Given the description of an element on the screen output the (x, y) to click on. 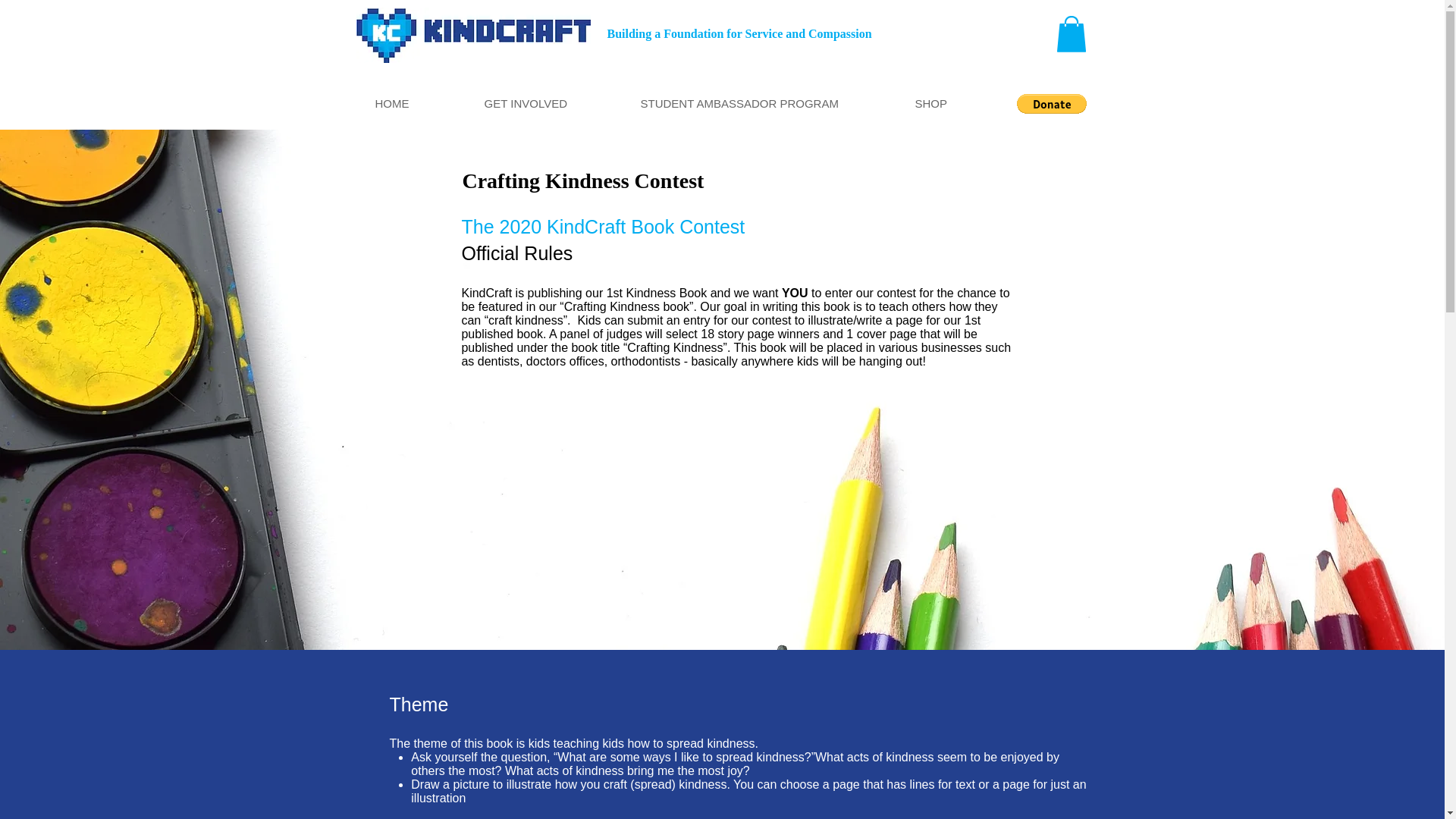
STUDENT AMBASSADOR PROGRAM (766, 103)
GET INVOLVED (550, 103)
HOME (418, 103)
SHOP (957, 103)
